Given the description of an element on the screen output the (x, y) to click on. 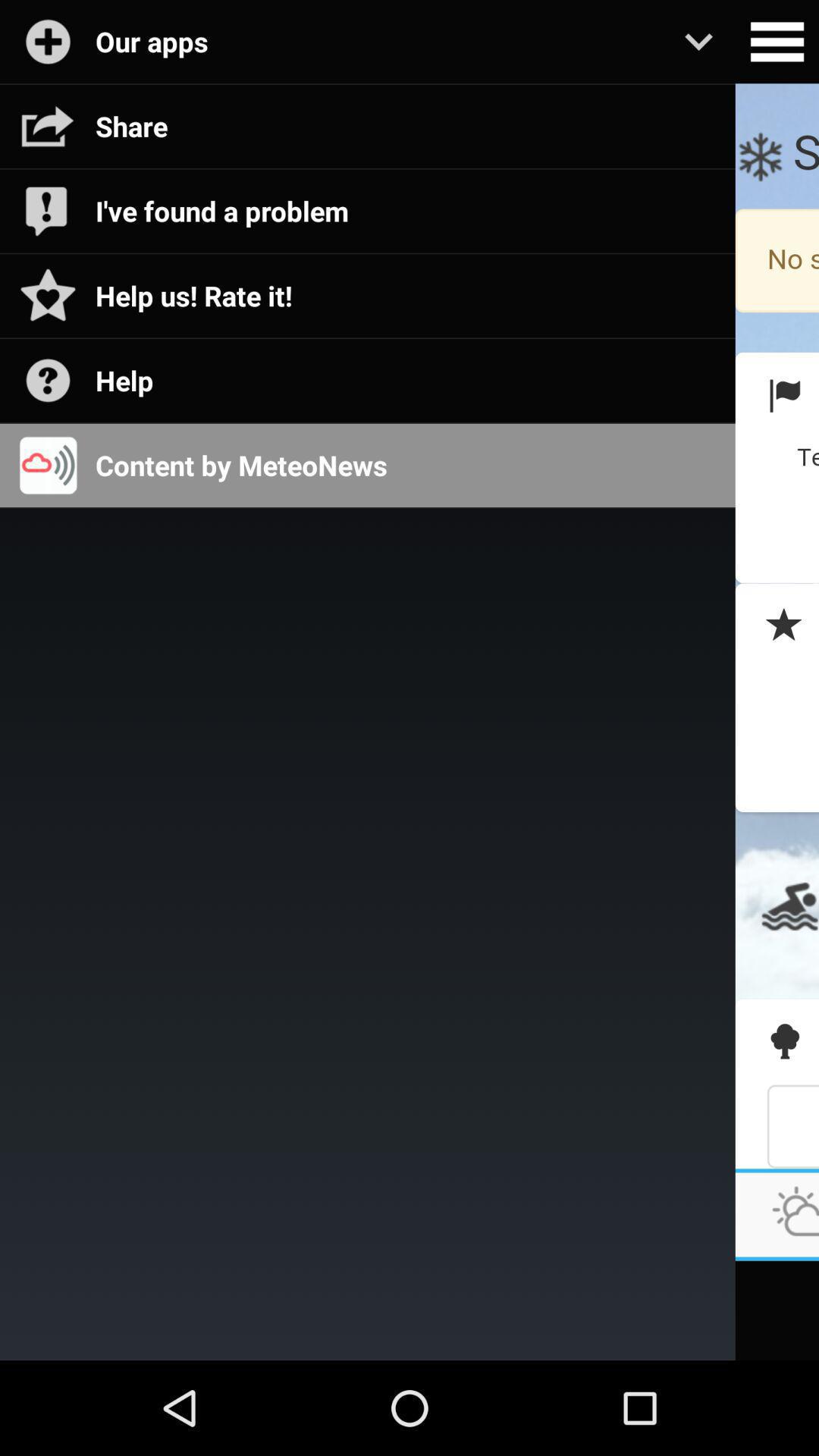
go to menu (777, 41)
